Given the description of an element on the screen output the (x, y) to click on. 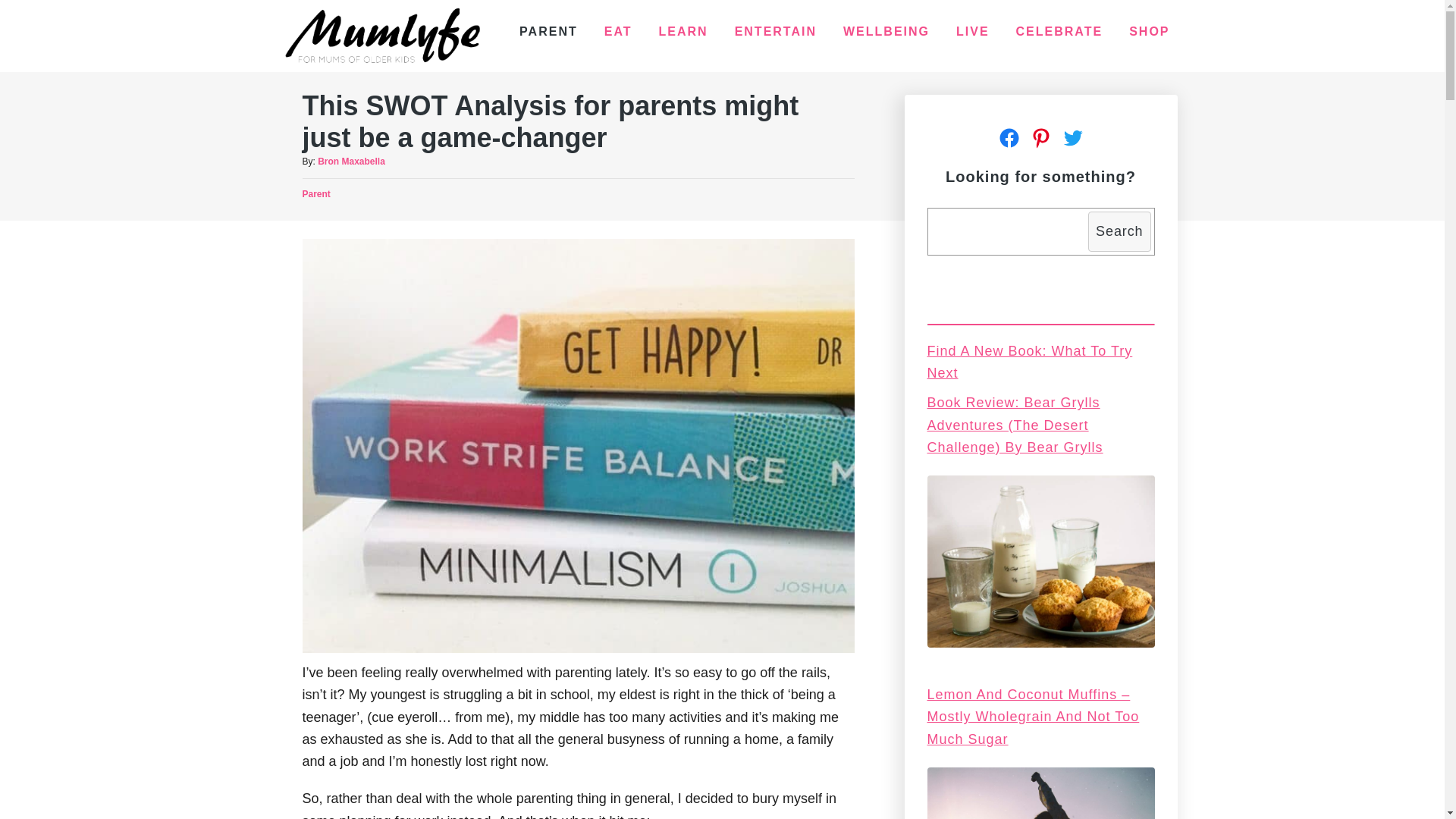
PARENT Element type: text (548, 31)
WELLBEING Element type: text (886, 31)
CELEBRATE Element type: text (1059, 31)
LIVE Element type: text (972, 31)
Facebook Element type: text (1008, 137)
EAT Element type: text (618, 31)
Mumlyfe Element type: hover (382, 35)
Pinterest Element type: text (1040, 137)
Parent Element type: text (315, 193)
Find A New Book: What To Try Next Element type: text (1029, 361)
Twitter Element type: text (1072, 137)
SHOP Element type: text (1148, 31)
LEARN Element type: text (683, 31)
Search Element type: text (1119, 230)
Bron Maxabella Element type: text (351, 161)
ENTERTAIN Element type: text (775, 31)
